Given the description of an element on the screen output the (x, y) to click on. 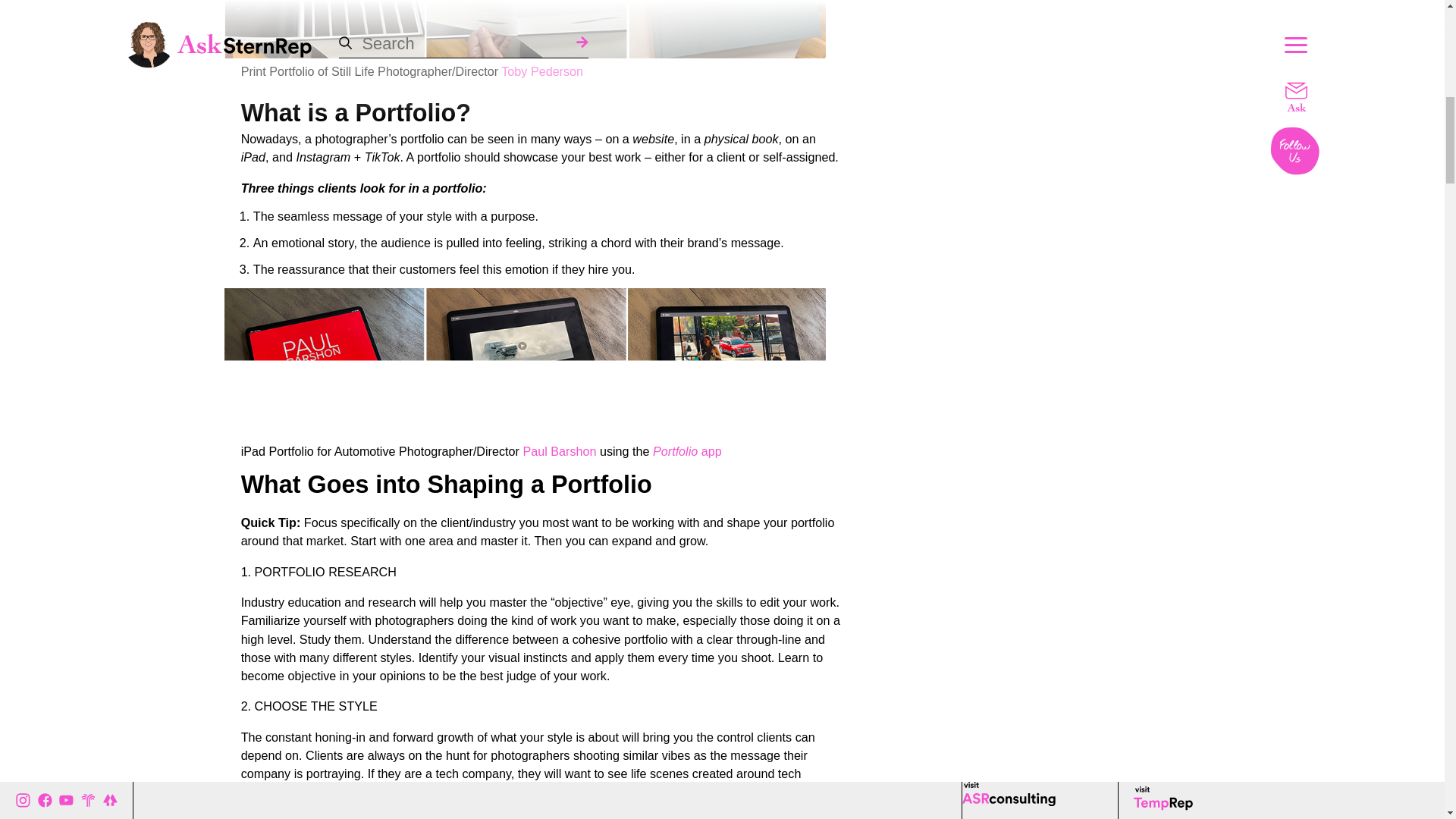
Portfolio app (687, 450)
Toby Pederson (541, 70)
Paul Barshon (558, 450)
